Given the description of an element on the screen output the (x, y) to click on. 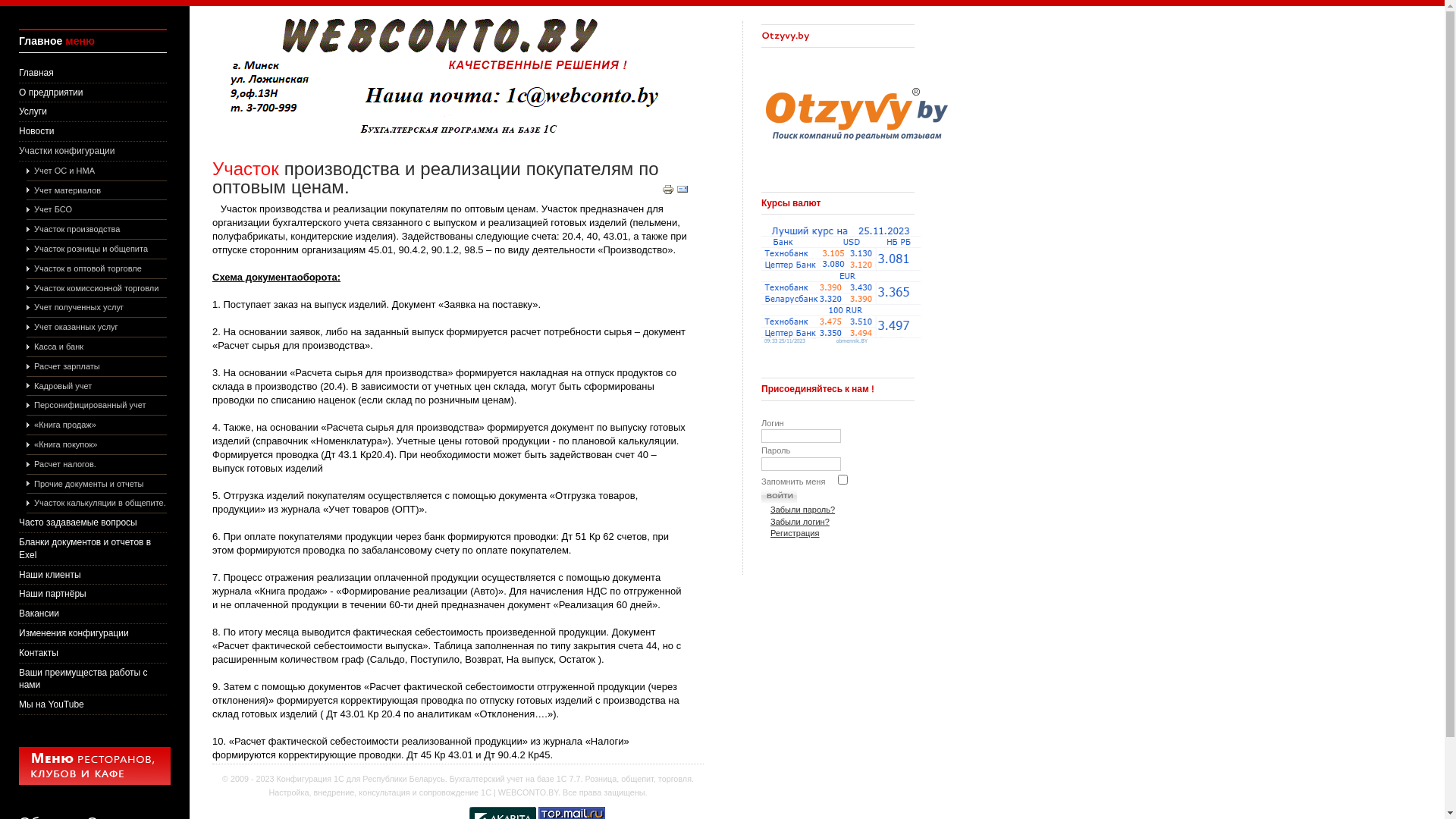
Webconto.by Element type: hover (470, 134)
E-mail Element type: hover (682, 192)
